Given the description of an element on the screen output the (x, y) to click on. 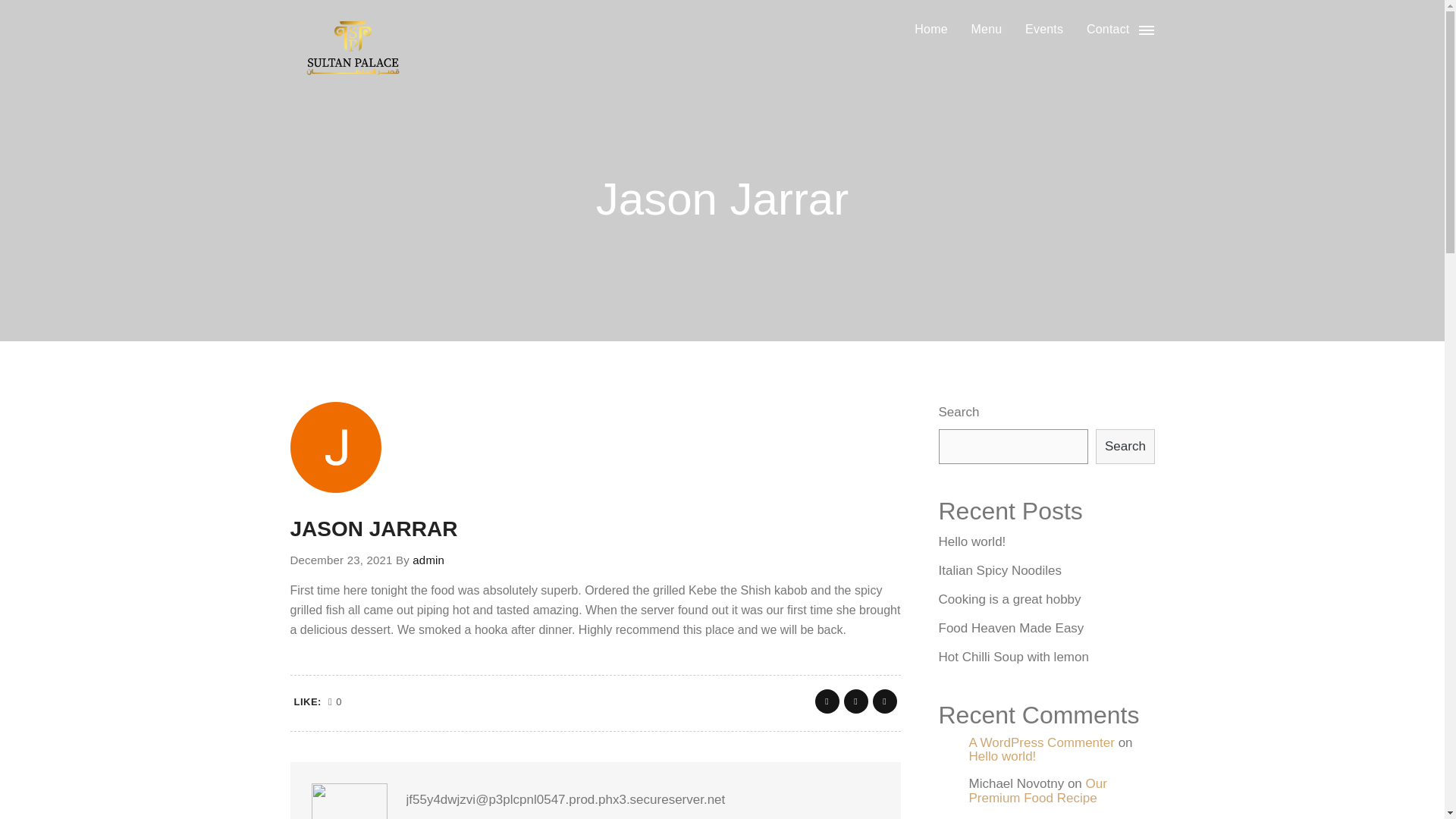
Cooking is a great hobby (1010, 599)
Search (1125, 446)
A WordPress Commenter (1042, 742)
Events (1043, 29)
Share On Facebook (825, 701)
Our Premium Food Recipe (1037, 790)
Hello world! (972, 541)
Hot Chilli Soup with lemon (1014, 657)
Food Heaven Made Easy (1011, 628)
Italian Spicy Noodiles (1000, 570)
Contact (1108, 29)
admin (428, 559)
Hello world! (1002, 756)
Share On Twitter (855, 701)
